Given the description of an element on the screen output the (x, y) to click on. 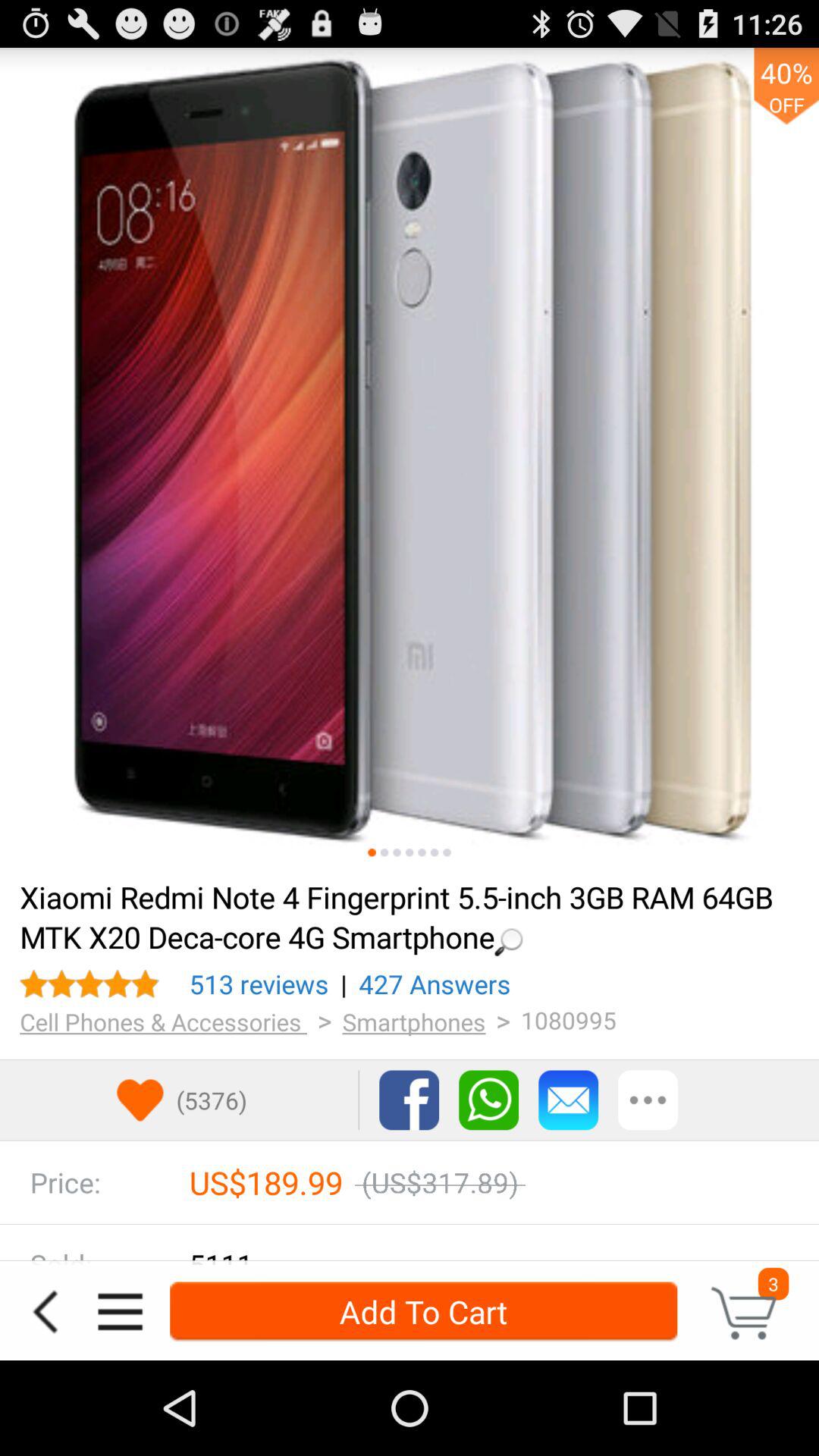
product image (409, 456)
